Given the description of an element on the screen output the (x, y) to click on. 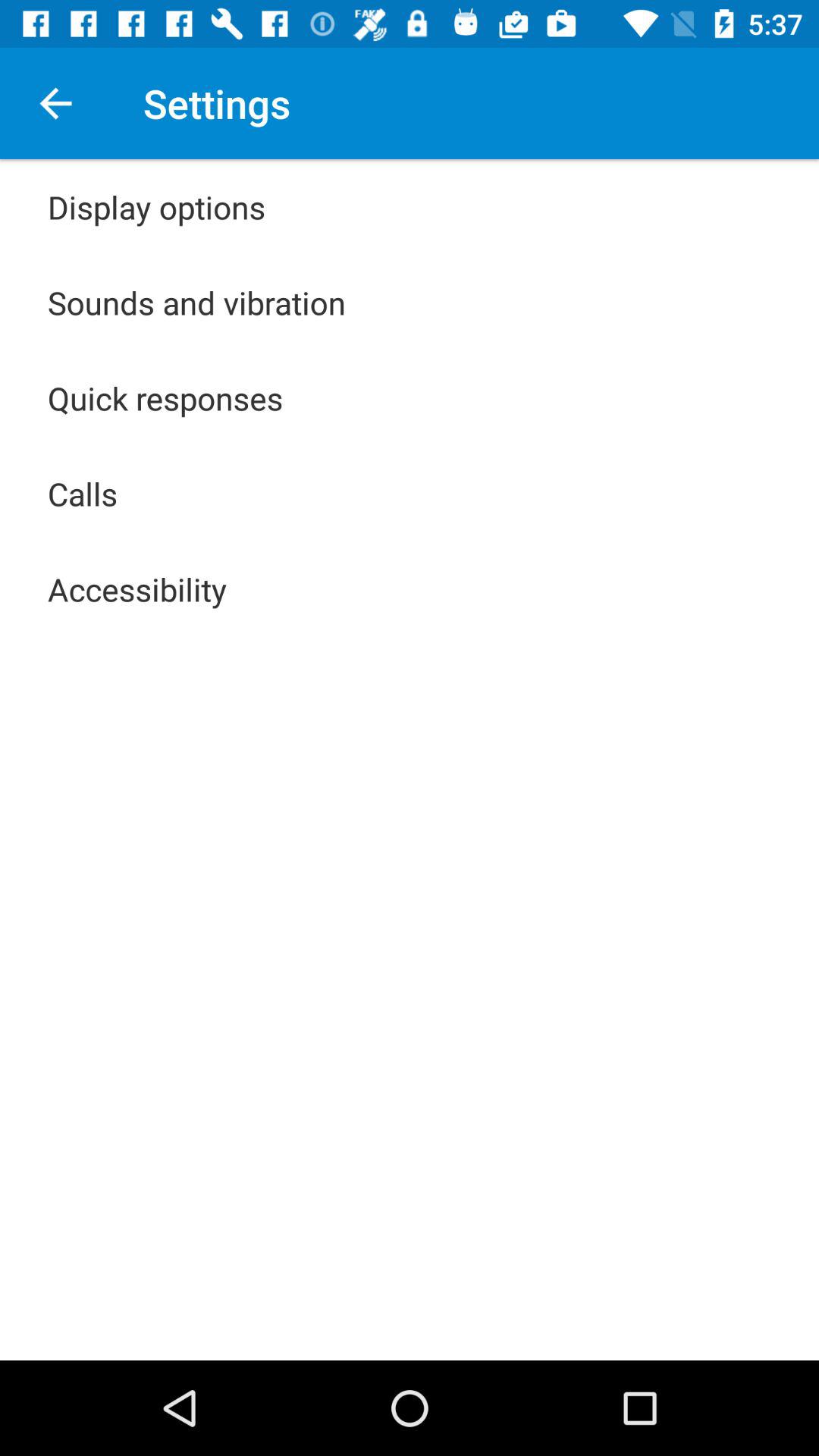
tap sounds and vibration icon (196, 302)
